Given the description of an element on the screen output the (x, y) to click on. 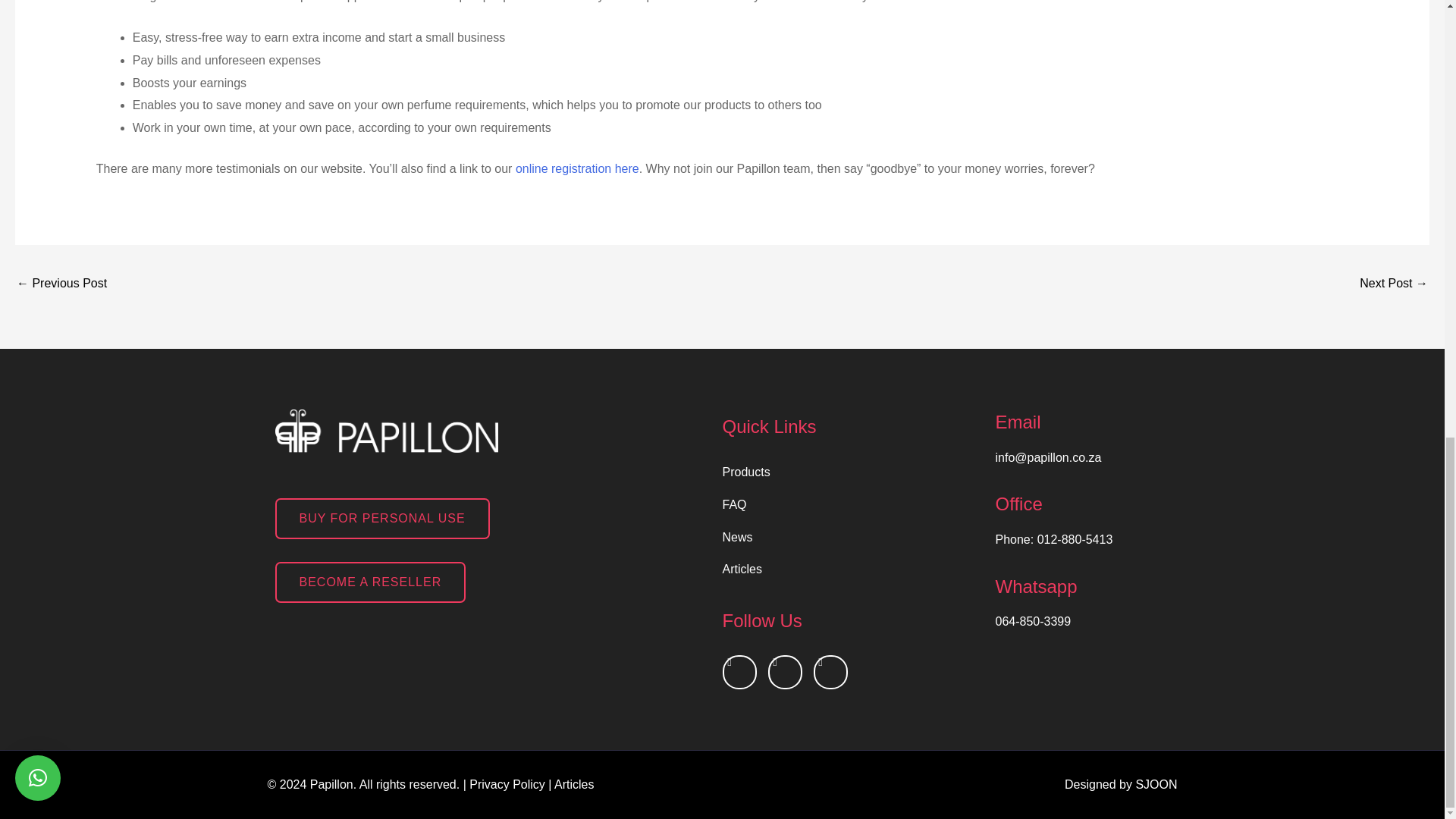
Articles (574, 784)
Instagram (784, 672)
How to Make Extra Money (1393, 284)
Privacy Policy (506, 784)
online registration here (577, 168)
Facebook-f (738, 672)
Youtube (829, 672)
Products (850, 472)
SJOON (1155, 784)
BUY FOR PERSONAL USE (382, 517)
